Given the description of an element on the screen output the (x, y) to click on. 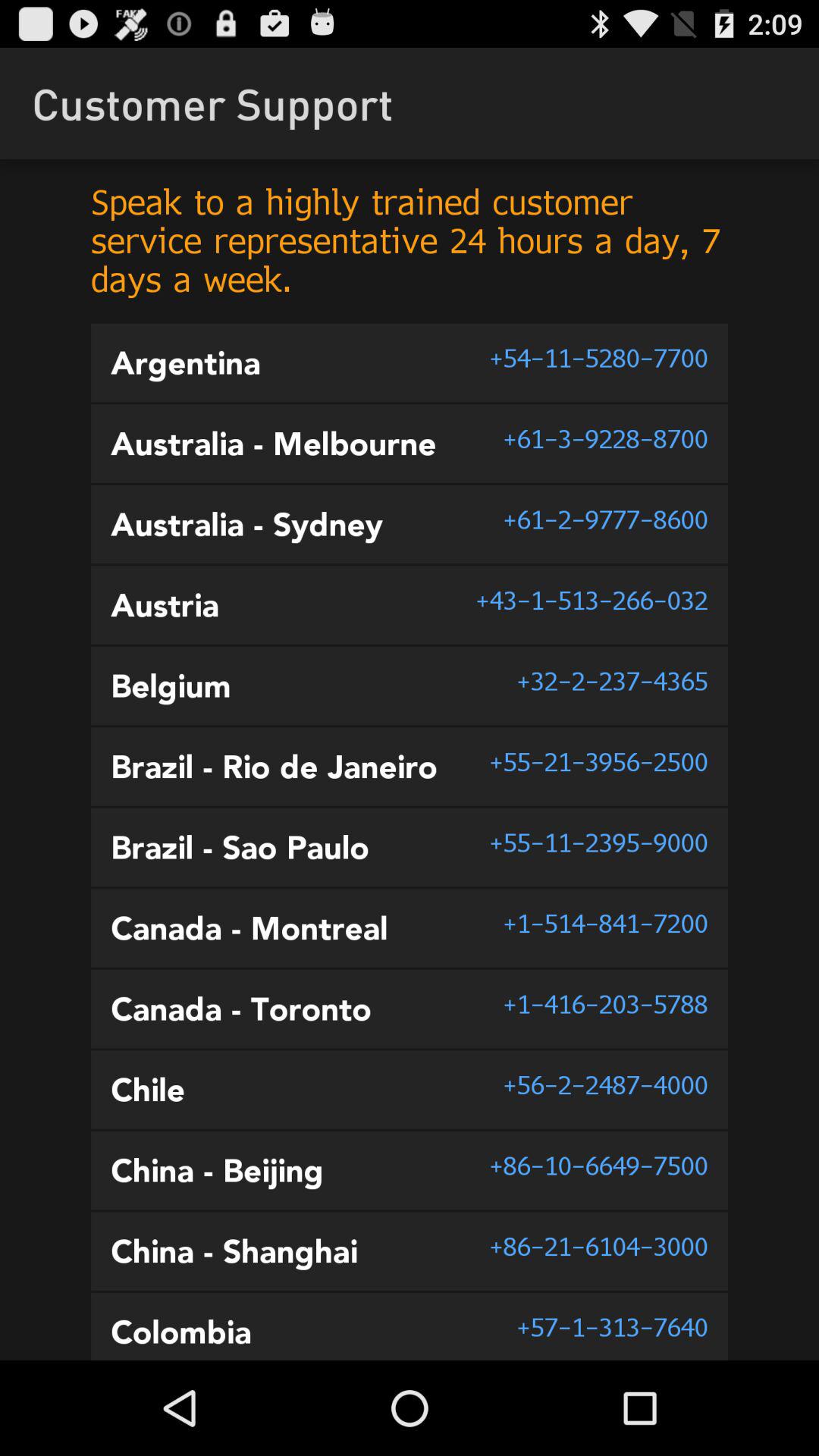
turn on the item next to china - shanghai (598, 1245)
